Given the description of an element on the screen output the (x, y) to click on. 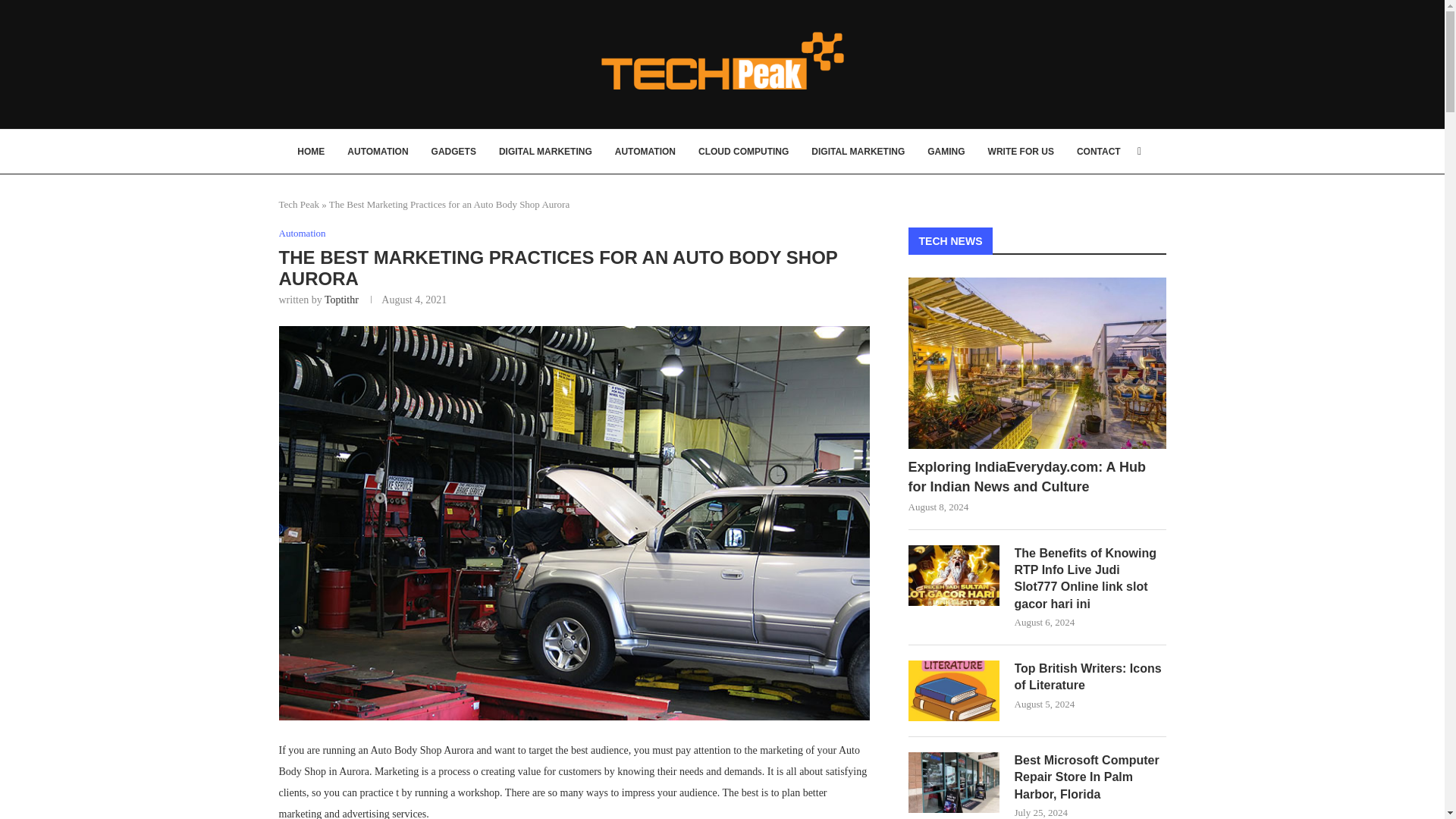
Toptithr (341, 299)
DIGITAL MARKETING (545, 151)
CLOUD COMPUTING (743, 151)
AUTOMATION (377, 151)
AUTOMATION (644, 151)
CONTACT (1099, 151)
WRITE FOR US (1021, 151)
DIGITAL MARKETING (857, 151)
Tech Peak (299, 204)
GADGETS (453, 151)
